Given the description of an element on the screen output the (x, y) to click on. 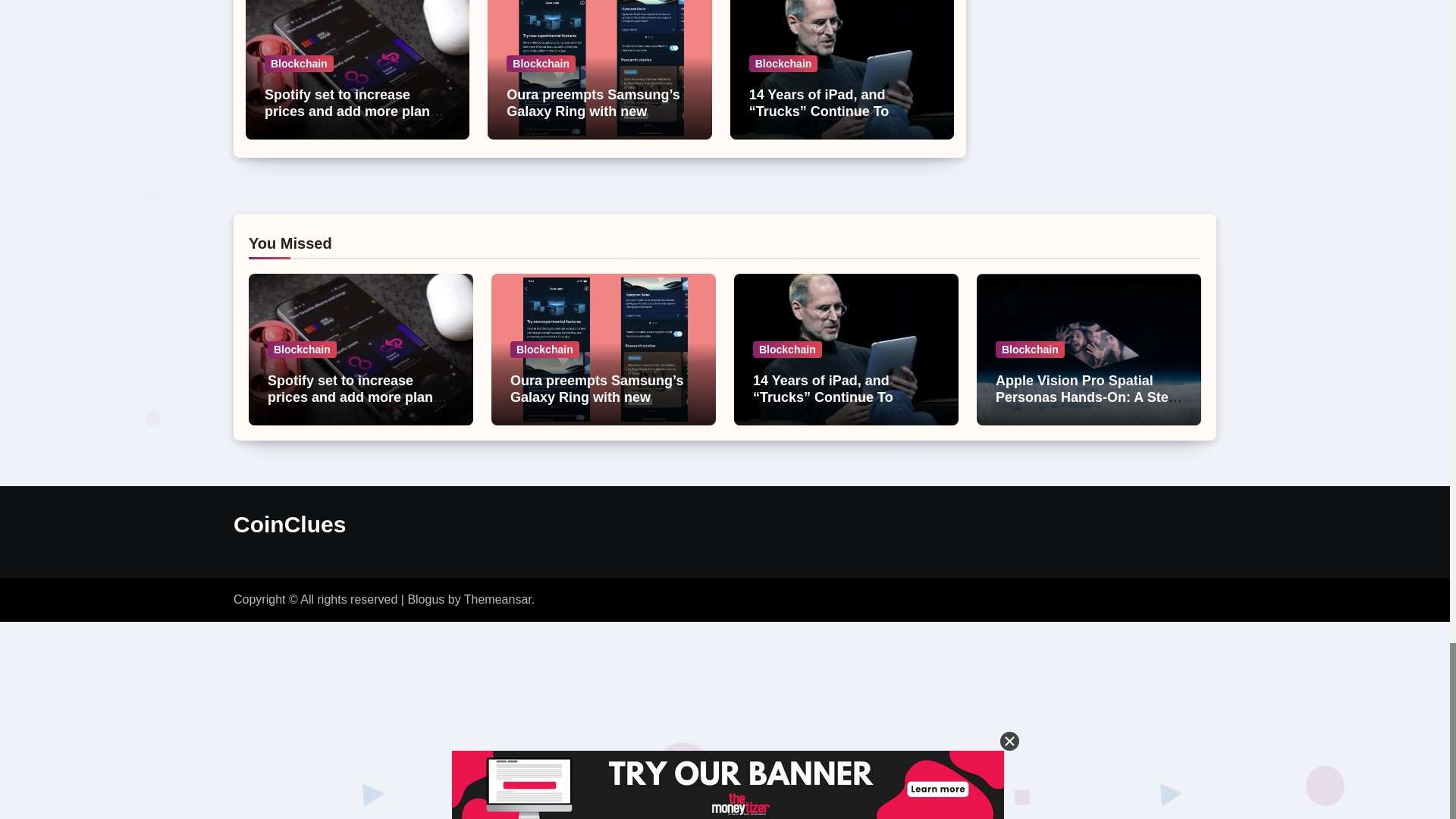
Spotify set to increase prices and add more plans soon (354, 110)
Blockchain (298, 63)
Blockchain (783, 63)
Blockchain (540, 63)
